Given the description of an element on the screen output the (x, y) to click on. 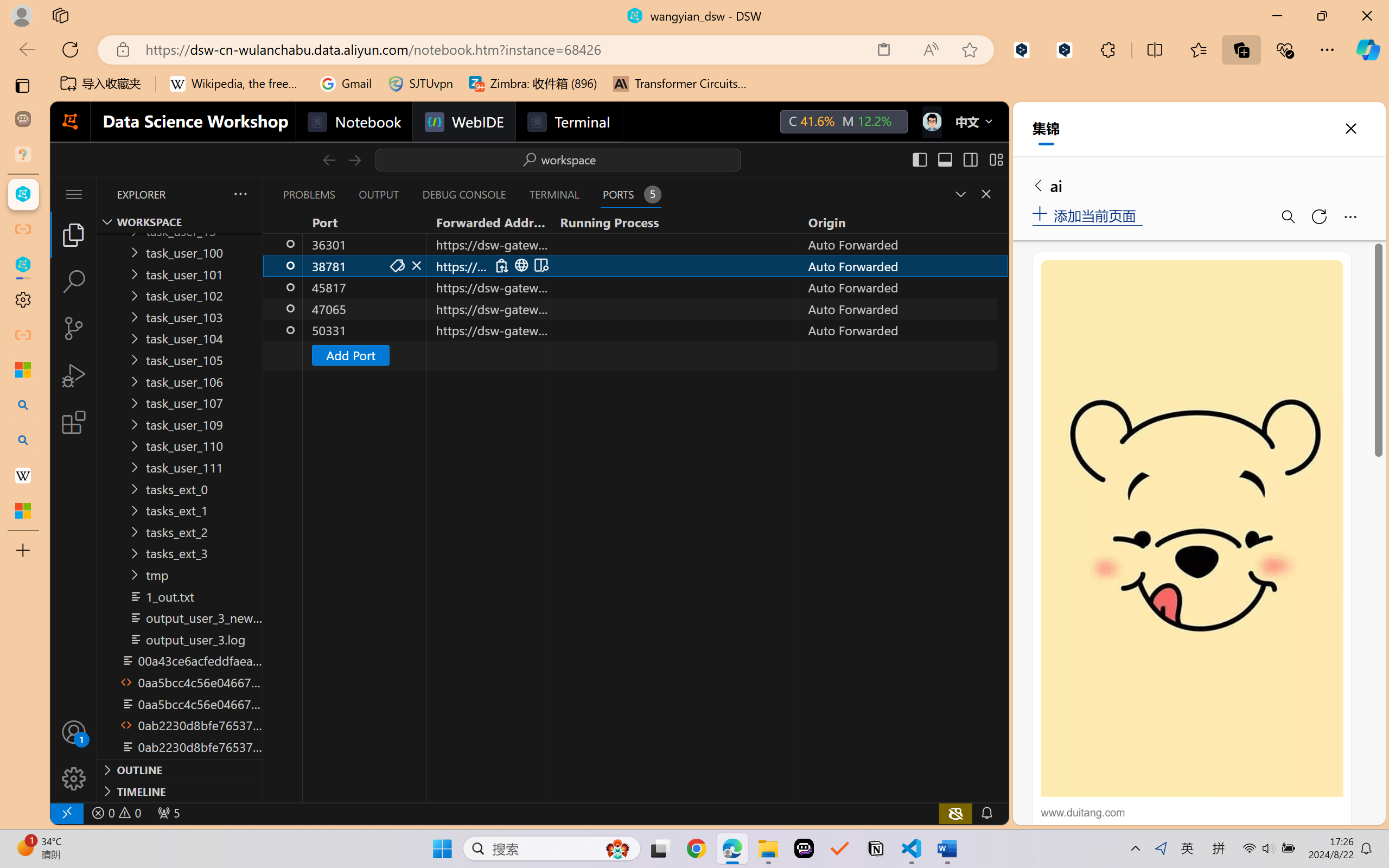
Search (Ctrl+Shift+F) (73, 281)
Preview in Editor (540, 265)
Open in Browser (520, 265)
Class: next-menu next-hoz widgets--iconMenu--BFkiHRM (930, 121)
Class: menubar compact overflow-menu-only (73, 194)
Explorer Section: workspace (179, 221)
Outline Section (179, 769)
